Given the description of an element on the screen output the (x, y) to click on. 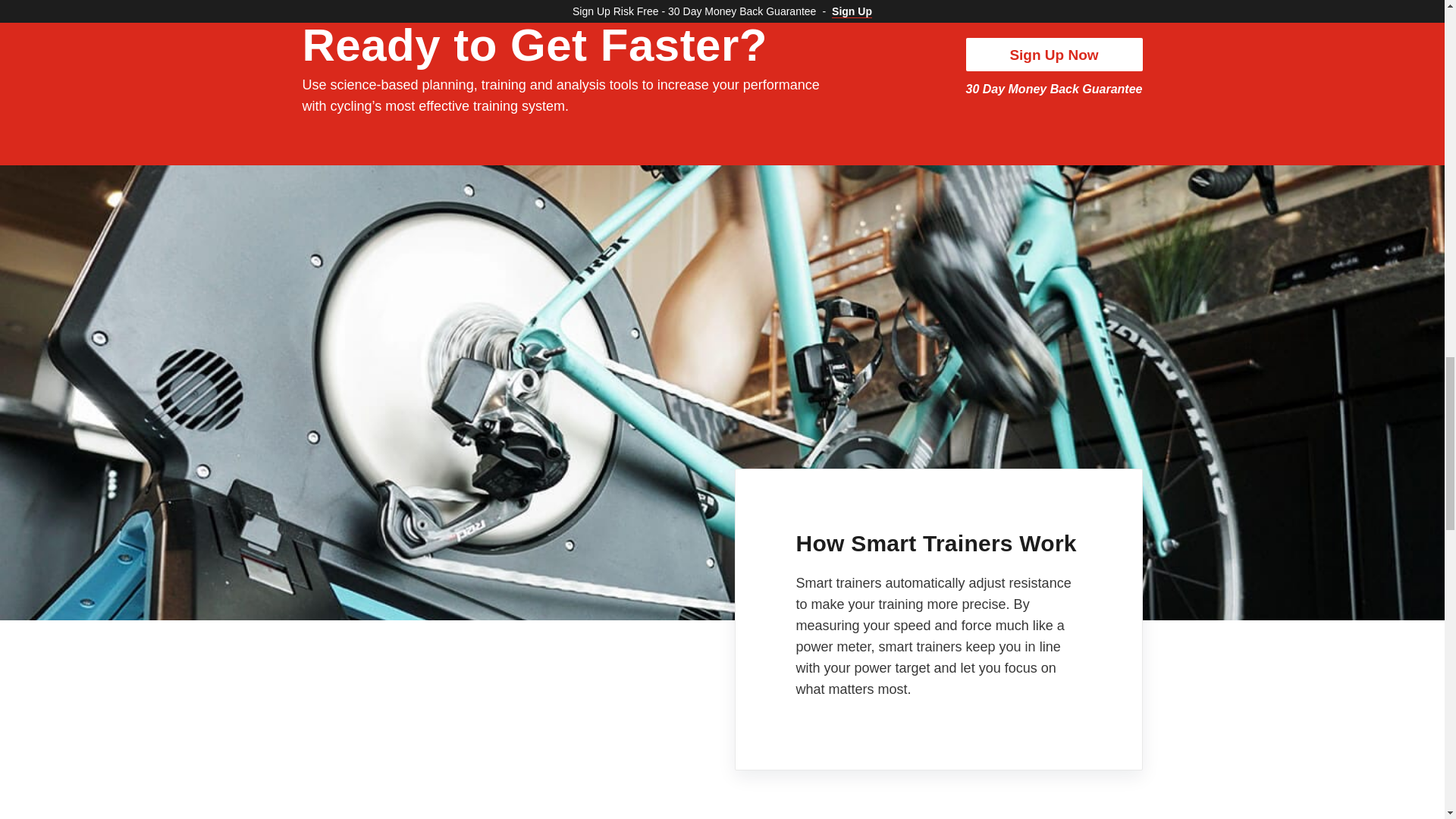
Sign Up Now (1054, 54)
